Given the description of an element on the screen output the (x, y) to click on. 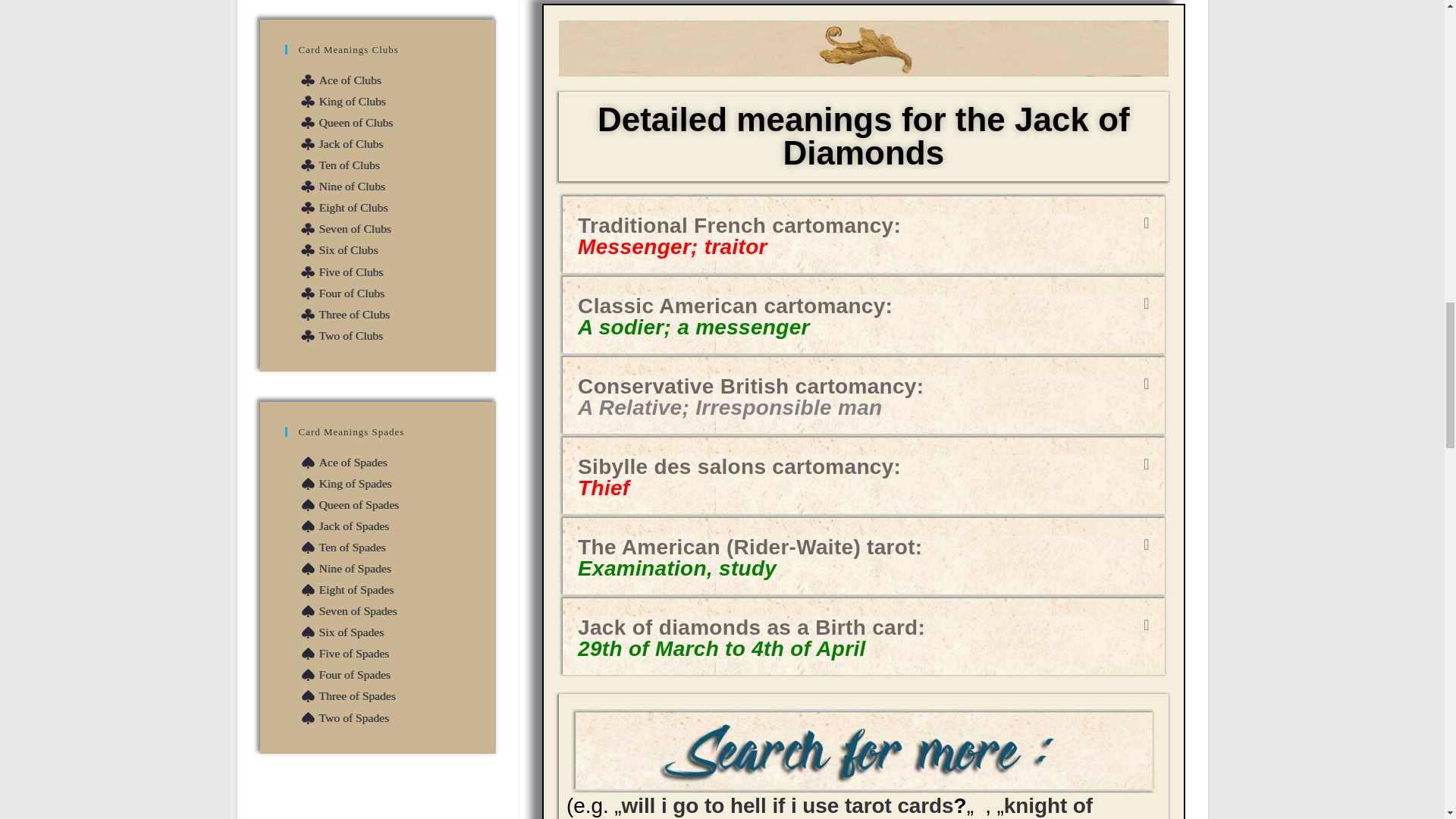
search cards top 6 (863, 751)
